Given the description of an element on the screen output the (x, y) to click on. 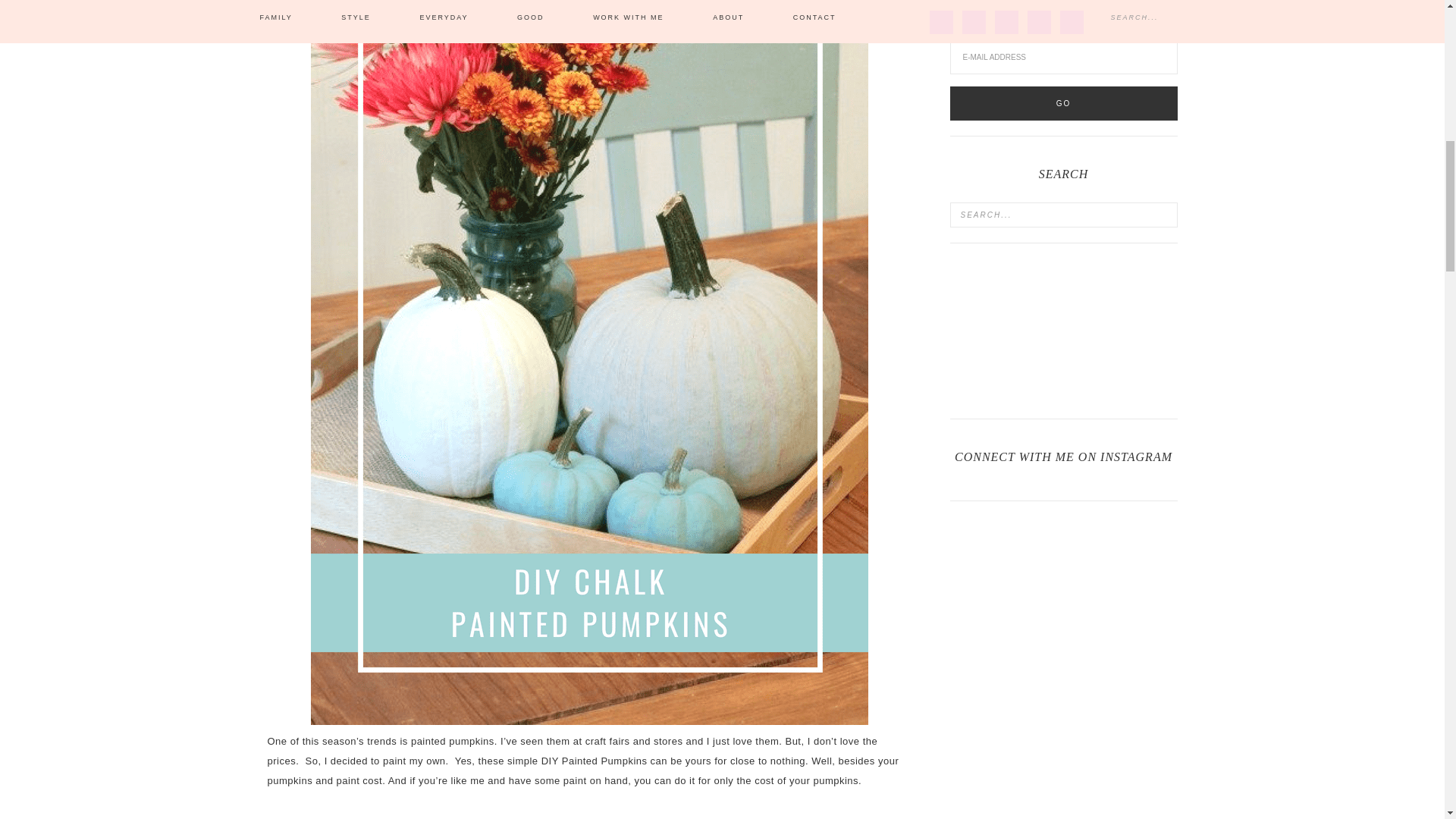
Go (1062, 103)
